Given the description of an element on the screen output the (x, y) to click on. 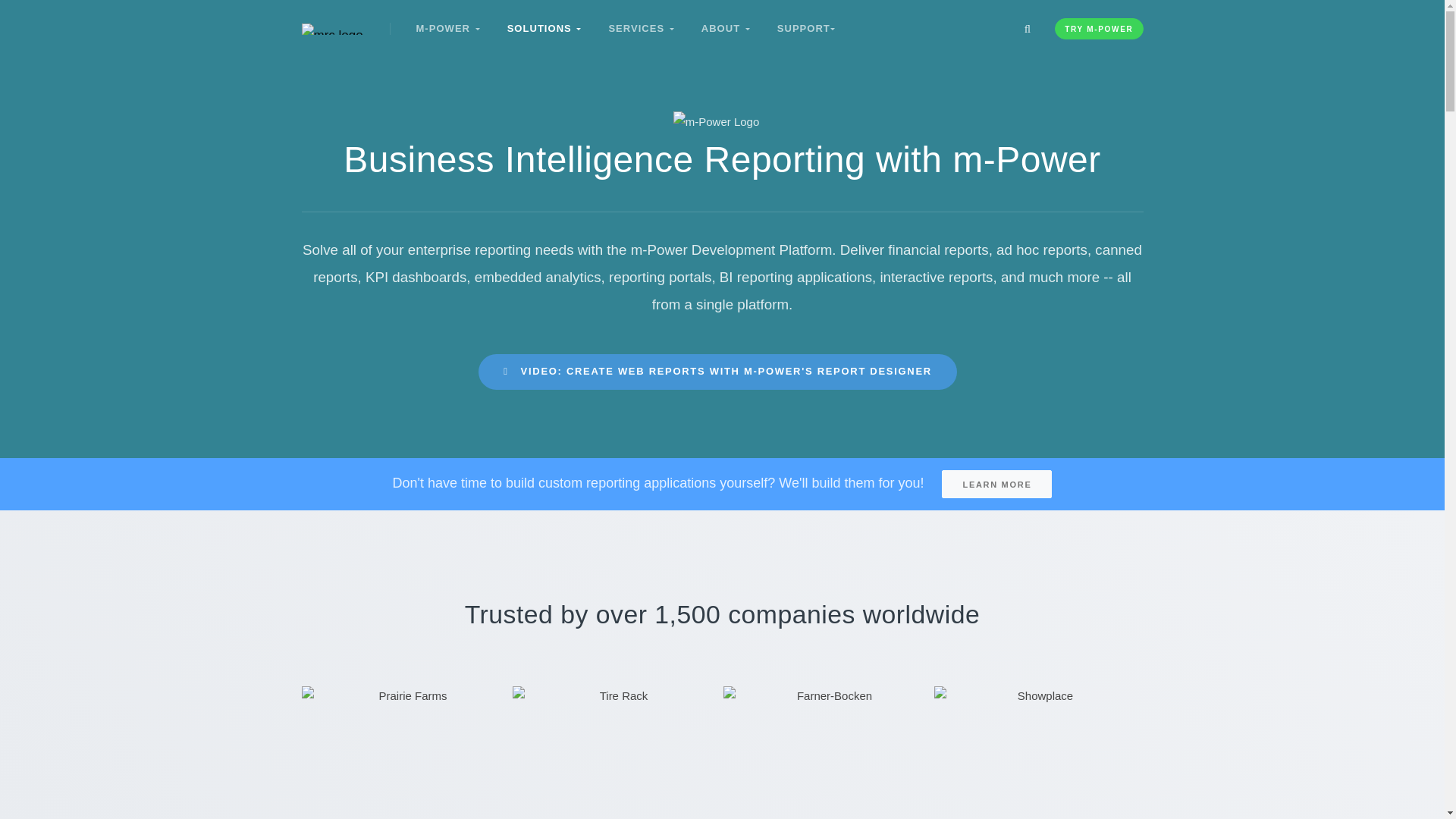
SOLUTIONS (544, 28)
M-POWER (447, 28)
